Given the description of an element on the screen output the (x, y) to click on. 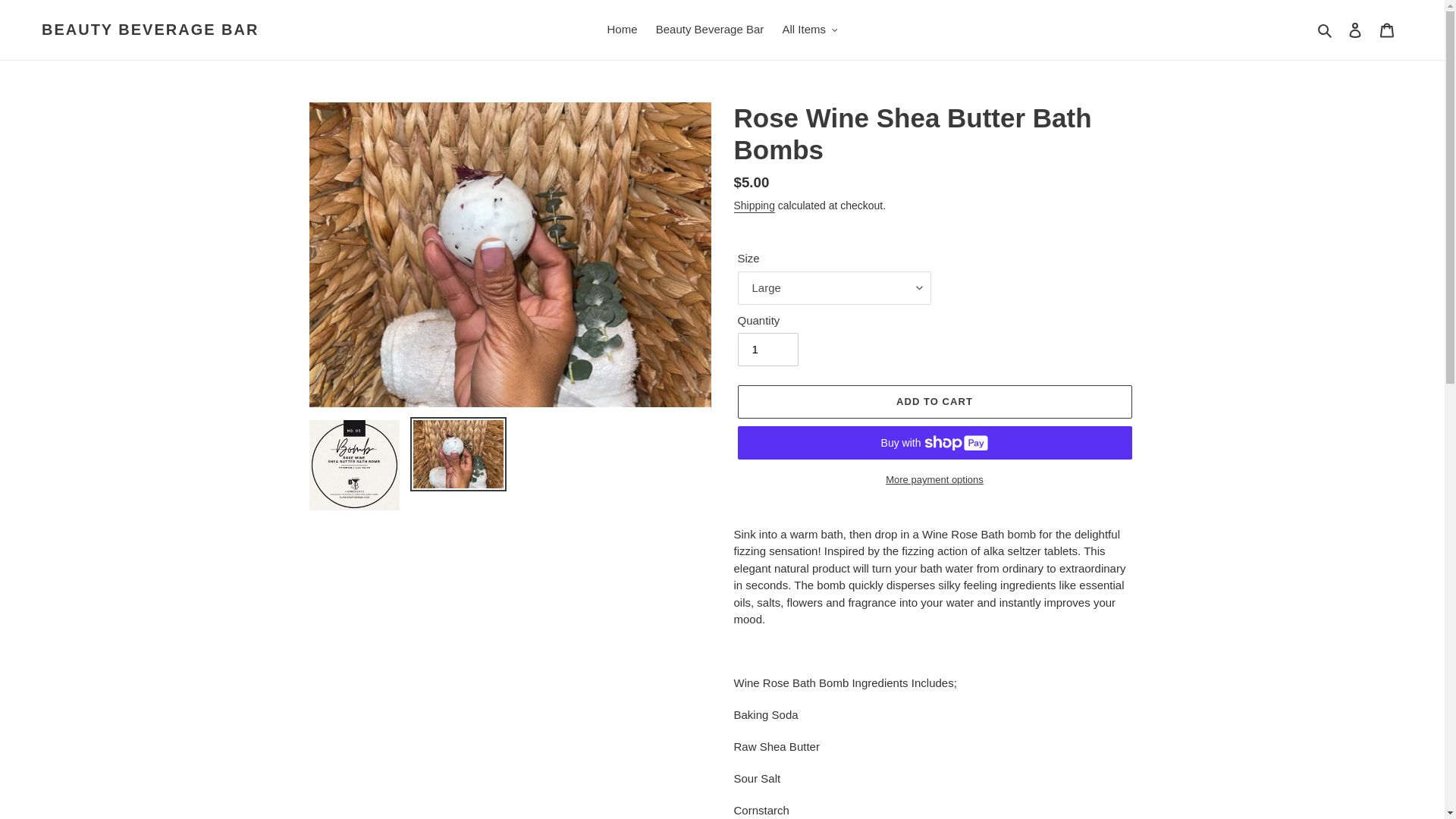
Search (1326, 29)
Log in (1355, 29)
All Items (809, 29)
Cart (1387, 29)
Beauty Beverage Bar (709, 29)
More payment options (933, 479)
Shipping (753, 205)
BEAUTY BEVERAGE BAR (150, 29)
Home (622, 29)
ADD TO CART (933, 401)
1 (766, 349)
